Given the description of an element on the screen output the (x, y) to click on. 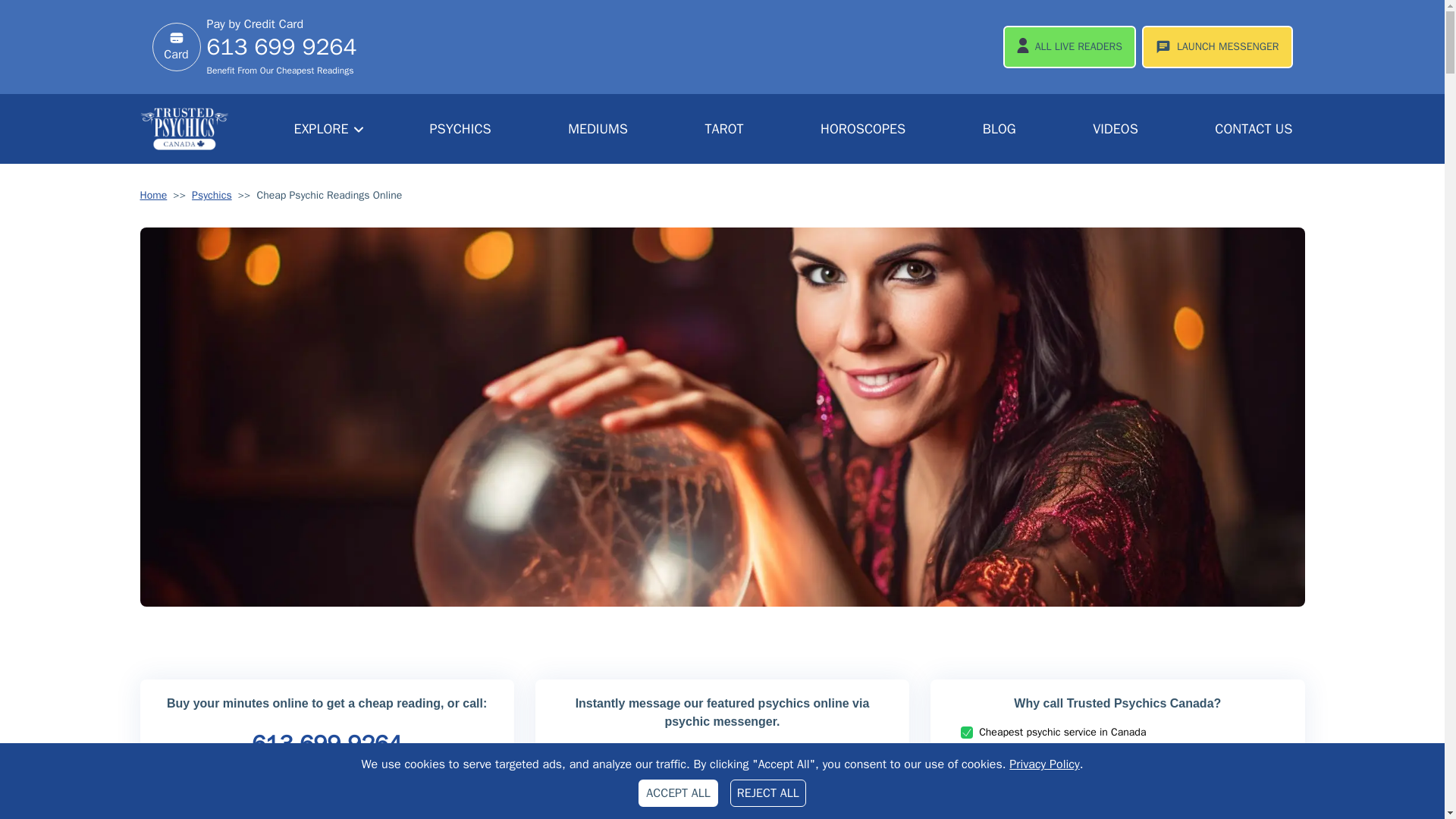
HOROSCOPES (862, 128)
BUY MINUTES ONLINE (326, 813)
Home (153, 195)
MEDIUMS (598, 128)
TAROT (724, 128)
BLOG (999, 128)
CONTACT US (1253, 128)
LAUNCH MESSENGER (1216, 46)
PSYCHIC MESSENGER (722, 814)
EXPLORE (329, 128)
Psychics (211, 195)
613 699 9264 (281, 54)
VIDEOS (1115, 128)
ALL LIVE READERS (1069, 46)
PSYCHICS (459, 128)
